Given the description of an element on the screen output the (x, y) to click on. 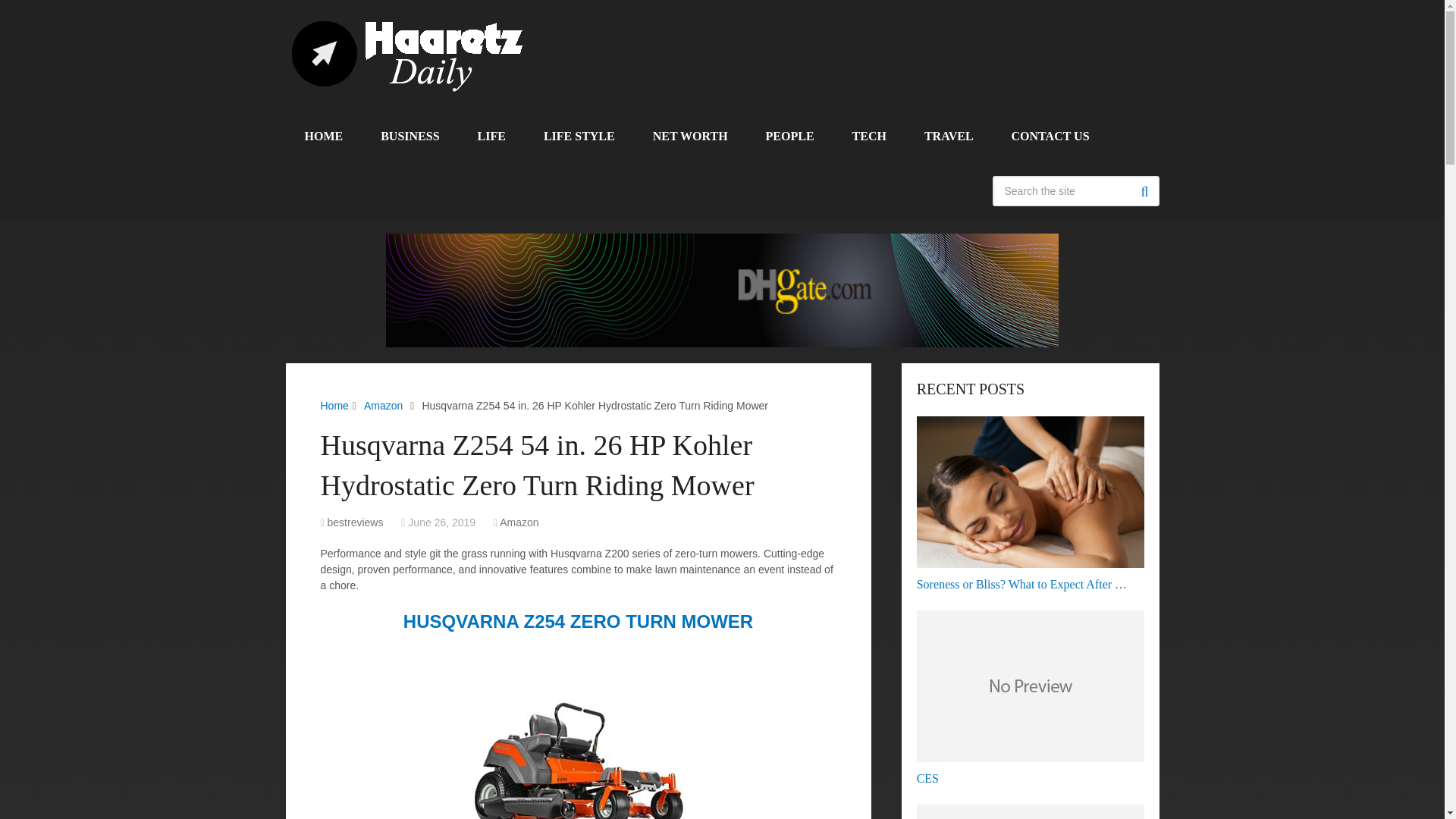
View all posts in Amazon (518, 522)
Soreness or Bliss? What to Expect After a Massage (1030, 502)
PEOPLE (789, 135)
NET WORTH (689, 135)
Home (333, 405)
CES (1030, 696)
LIFE (491, 135)
CEREAL (1030, 809)
TECH (868, 135)
LIFE STYLE (578, 135)
TRAVEL (948, 135)
Soreness or Bliss? What to Expect After a Massage (1030, 492)
Amazon (383, 405)
CONTACT US (1050, 135)
HUSQVARNA Z254 ZERO TURN MOWER (577, 620)
